Given the description of an element on the screen output the (x, y) to click on. 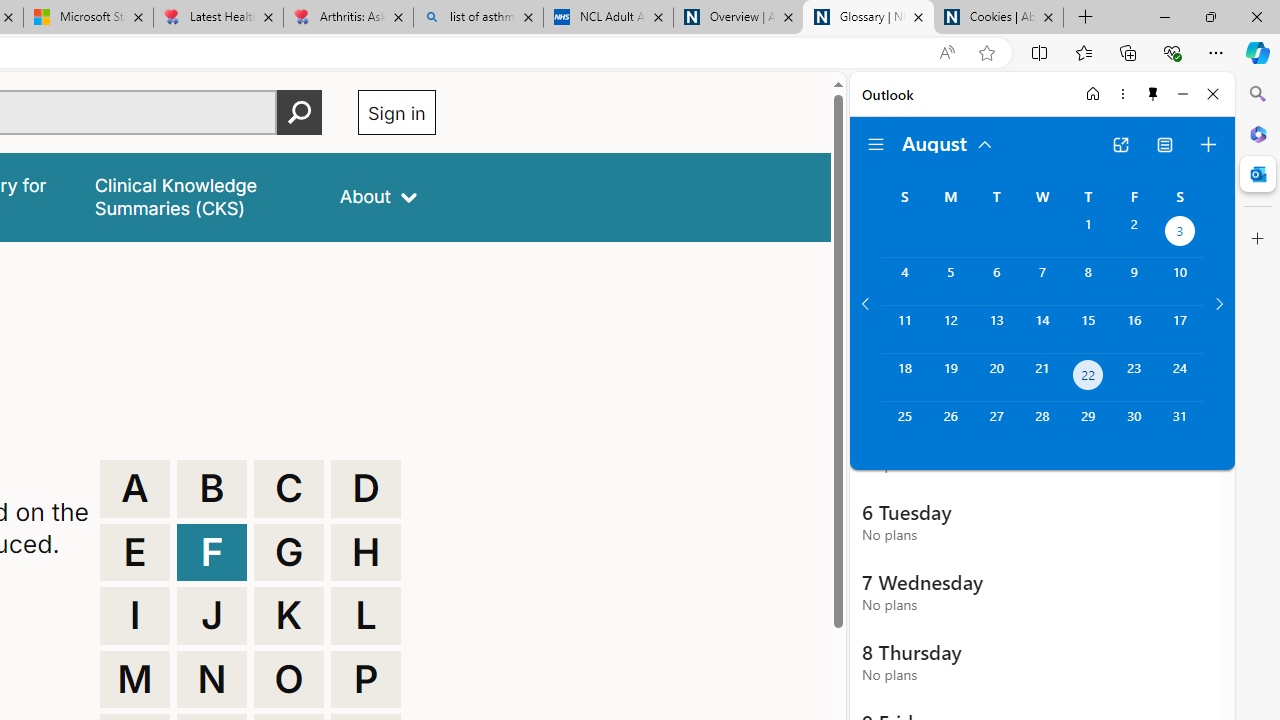
Friday, August 9, 2024.  (1134, 281)
P (365, 679)
Monday, August 19, 2024.  (950, 377)
L (365, 615)
B (212, 488)
Sunday, August 25, 2024.  (904, 425)
G (289, 551)
D (365, 488)
Saturday, August 31, 2024.  (1180, 425)
D (365, 488)
